Given the description of an element on the screen output the (x, y) to click on. 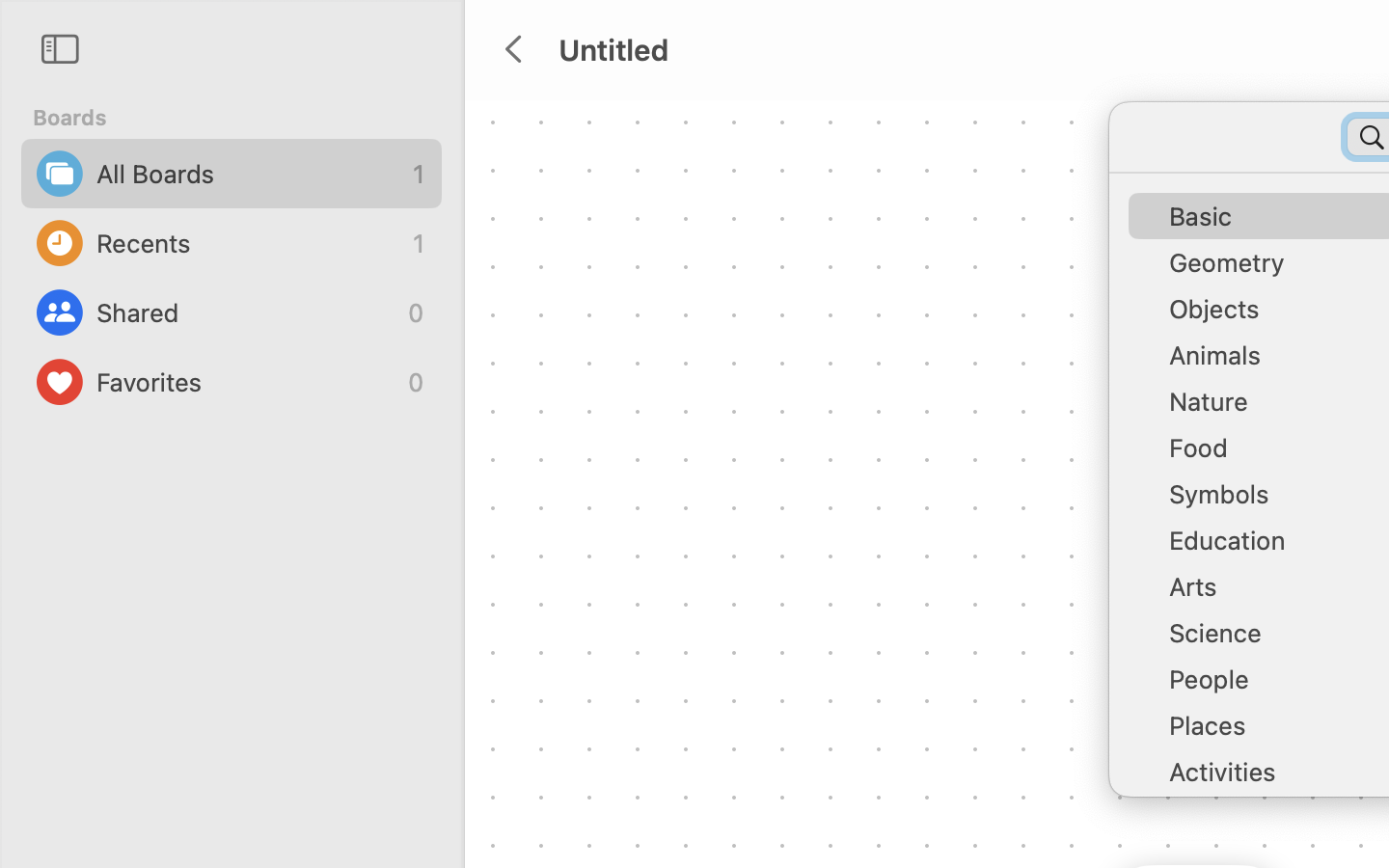
All Boards Element type: AXStaticText (249, 173)
Animals Element type: AXStaticText (1273, 362)
Science Element type: AXStaticText (1273, 640)
Transportation Element type: AXStaticText (1273, 825)
Favorites Element type: AXStaticText (246, 381)
